Given the description of an element on the screen output the (x, y) to click on. 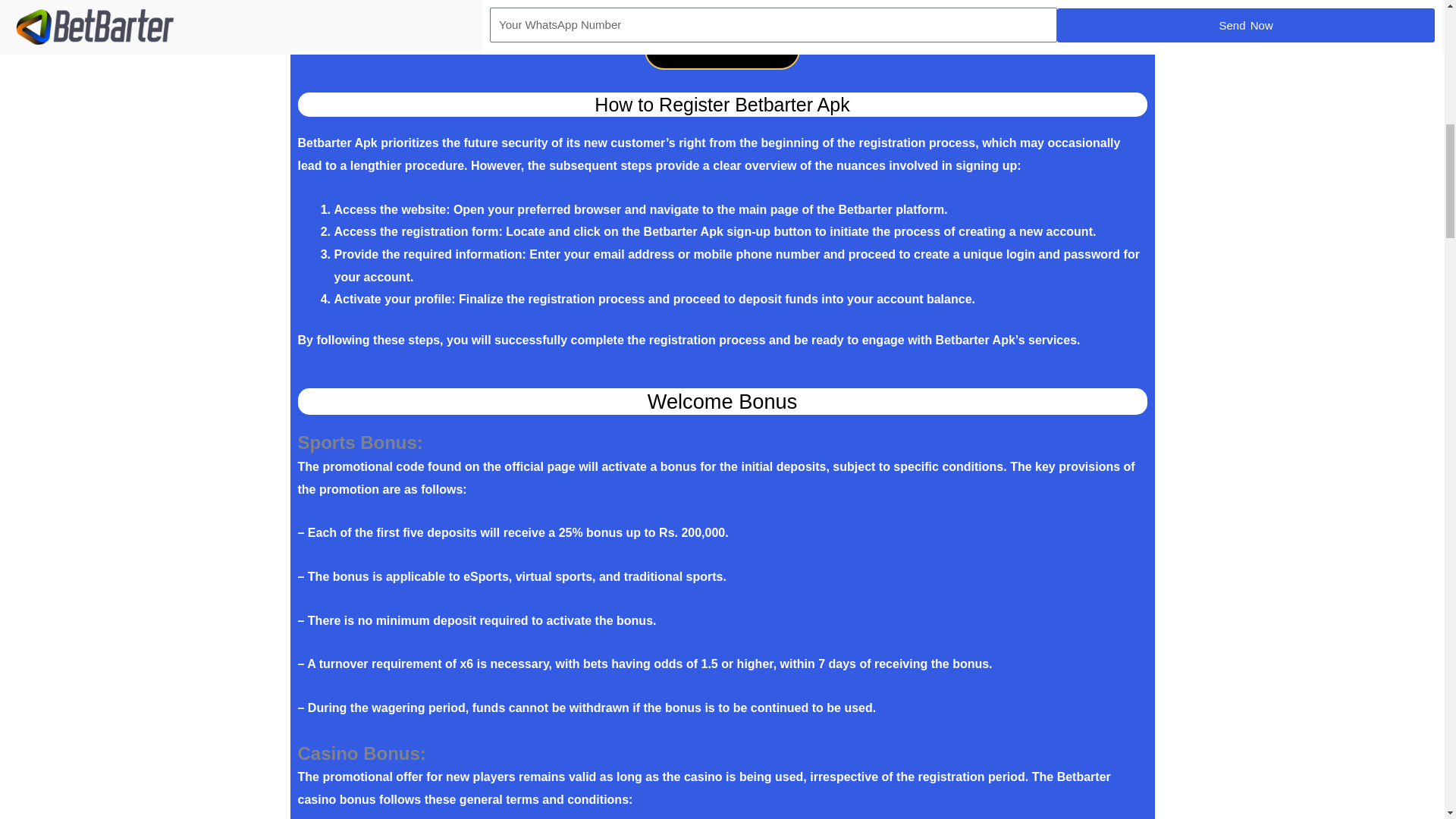
Get Your ID Now (722, 49)
